Given the description of an element on the screen output the (x, y) to click on. 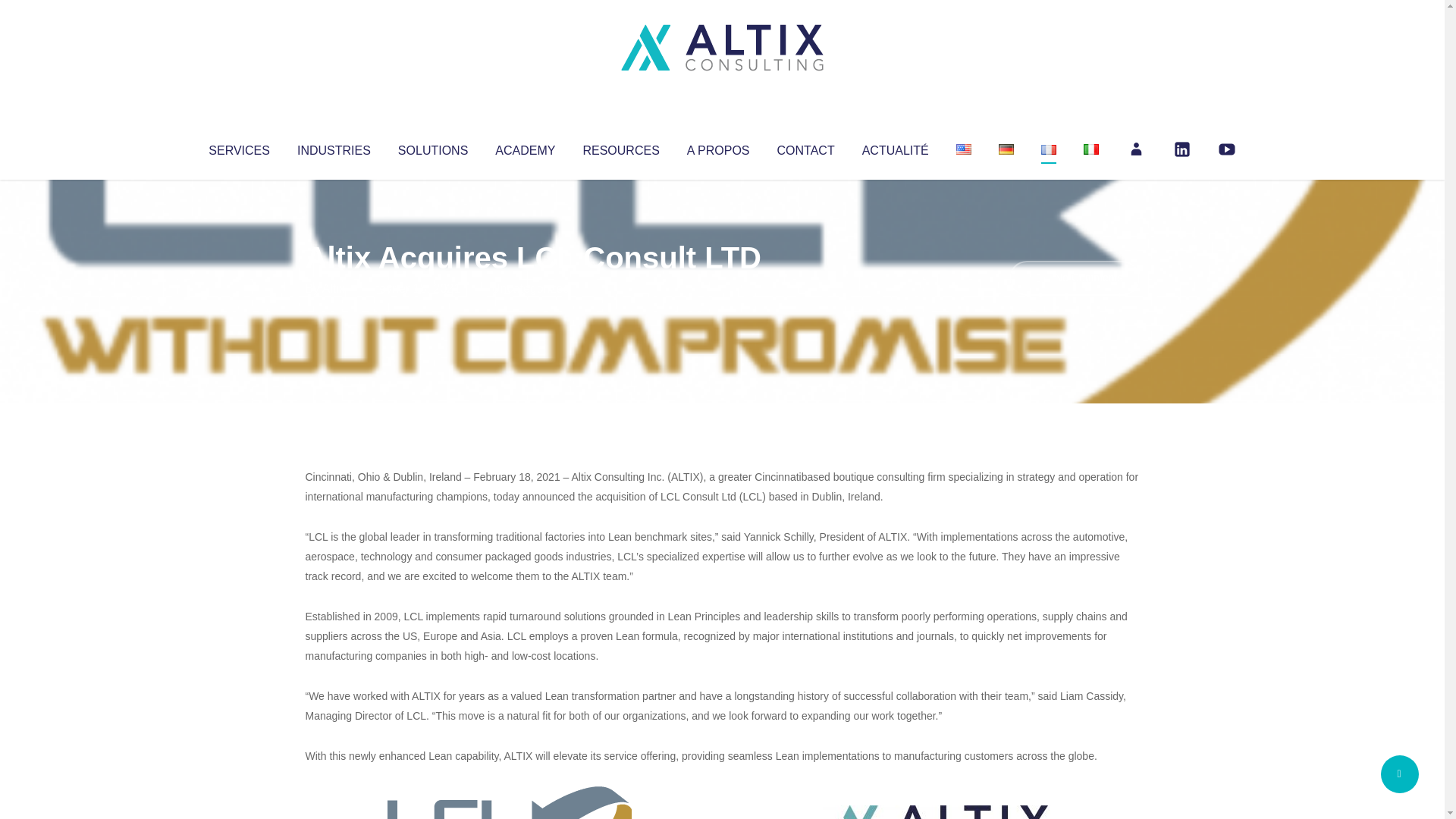
RESOURCES (620, 146)
SOLUTIONS (432, 146)
ACADEMY (524, 146)
No Comments (1073, 278)
Altix (333, 287)
A PROPOS (718, 146)
INDUSTRIES (334, 146)
Uncategorized (530, 287)
SERVICES (238, 146)
Articles par Altix (333, 287)
